Given the description of an element on the screen output the (x, y) to click on. 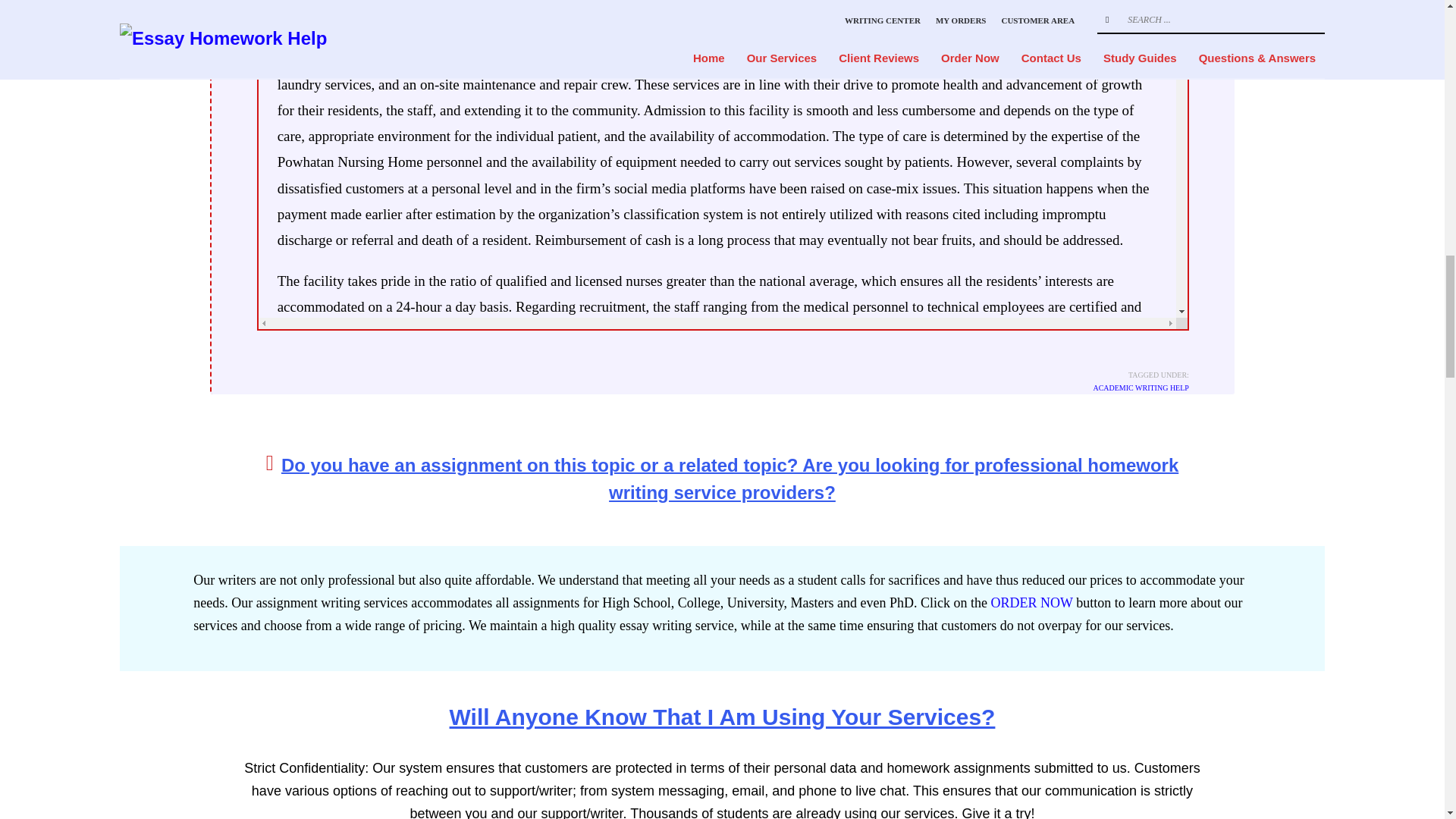
ACADEMIC WRITING HELP (1140, 388)
health care delivery (480, 751)
ORDER NOW (1030, 602)
